Given the description of an element on the screen output the (x, y) to click on. 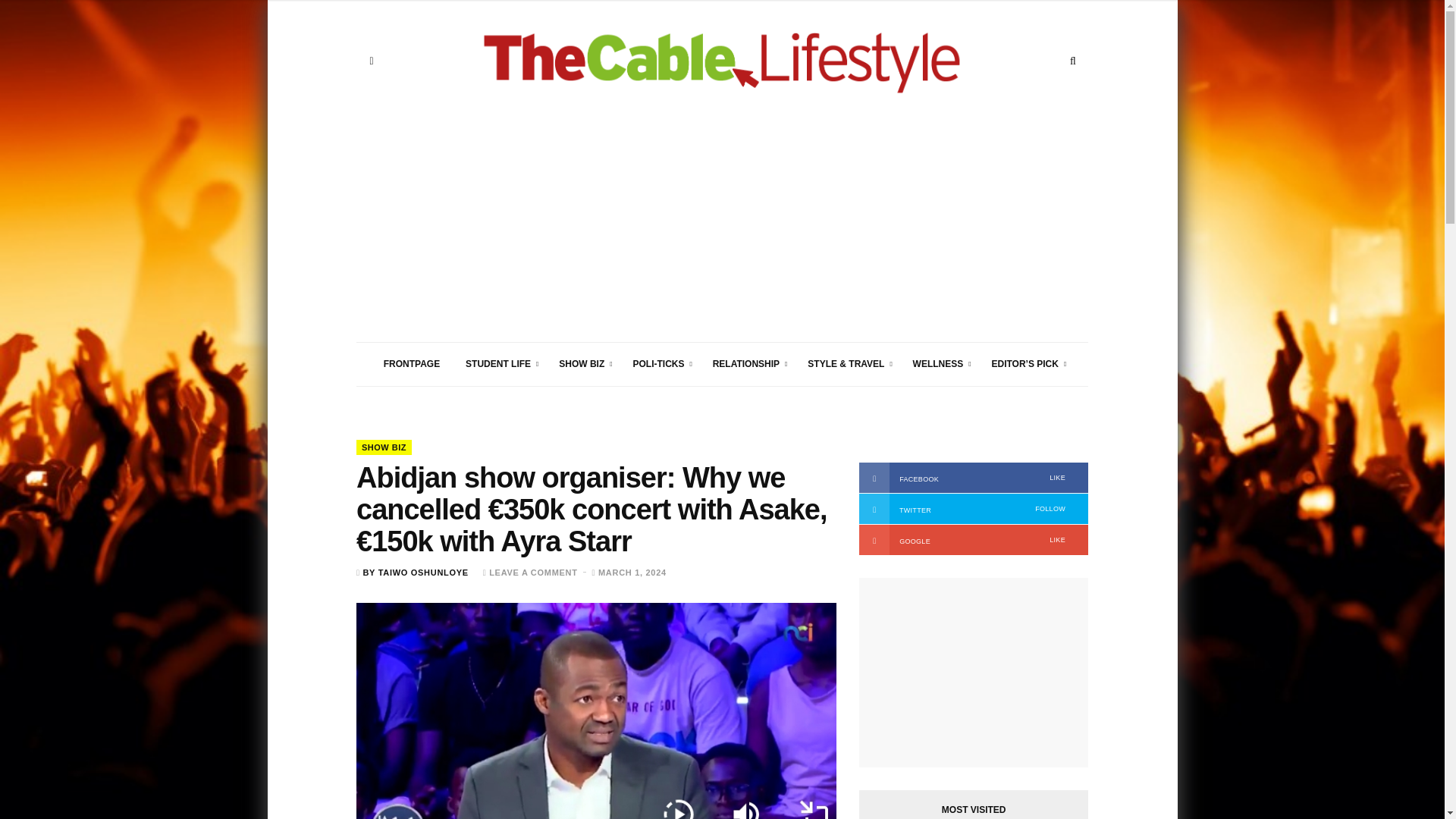
STUDENT LIFE (499, 364)
Advertisement (721, 235)
Search (1072, 60)
SHOW BIZ (582, 364)
FRONTPAGE (411, 364)
